Given the description of an element on the screen output the (x, y) to click on. 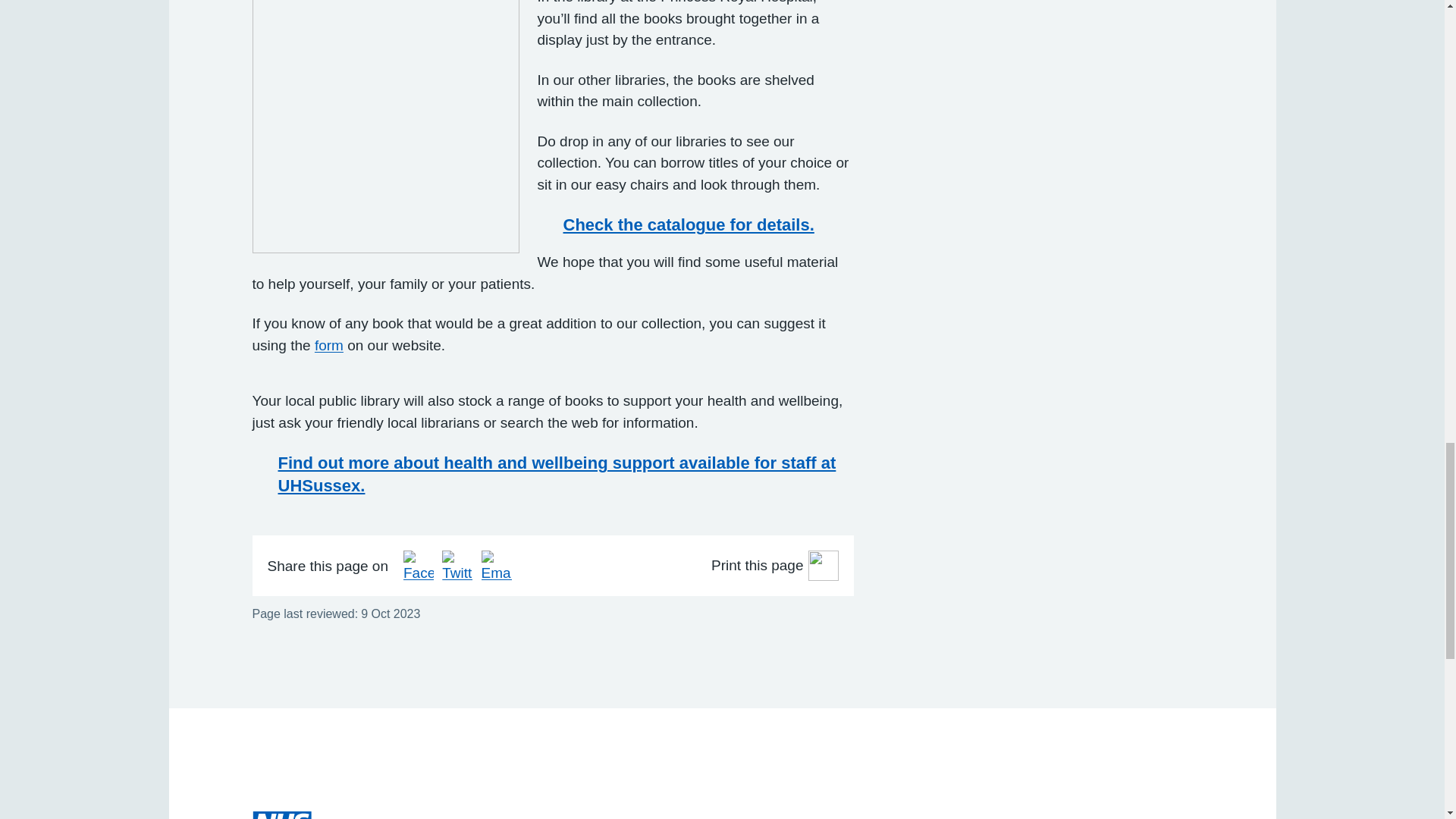
Excellence as our standard (359, 815)
Share via Email (496, 565)
Share on Twitter (456, 565)
Share on Facebook (418, 565)
